Given the description of an element on the screen output the (x, y) to click on. 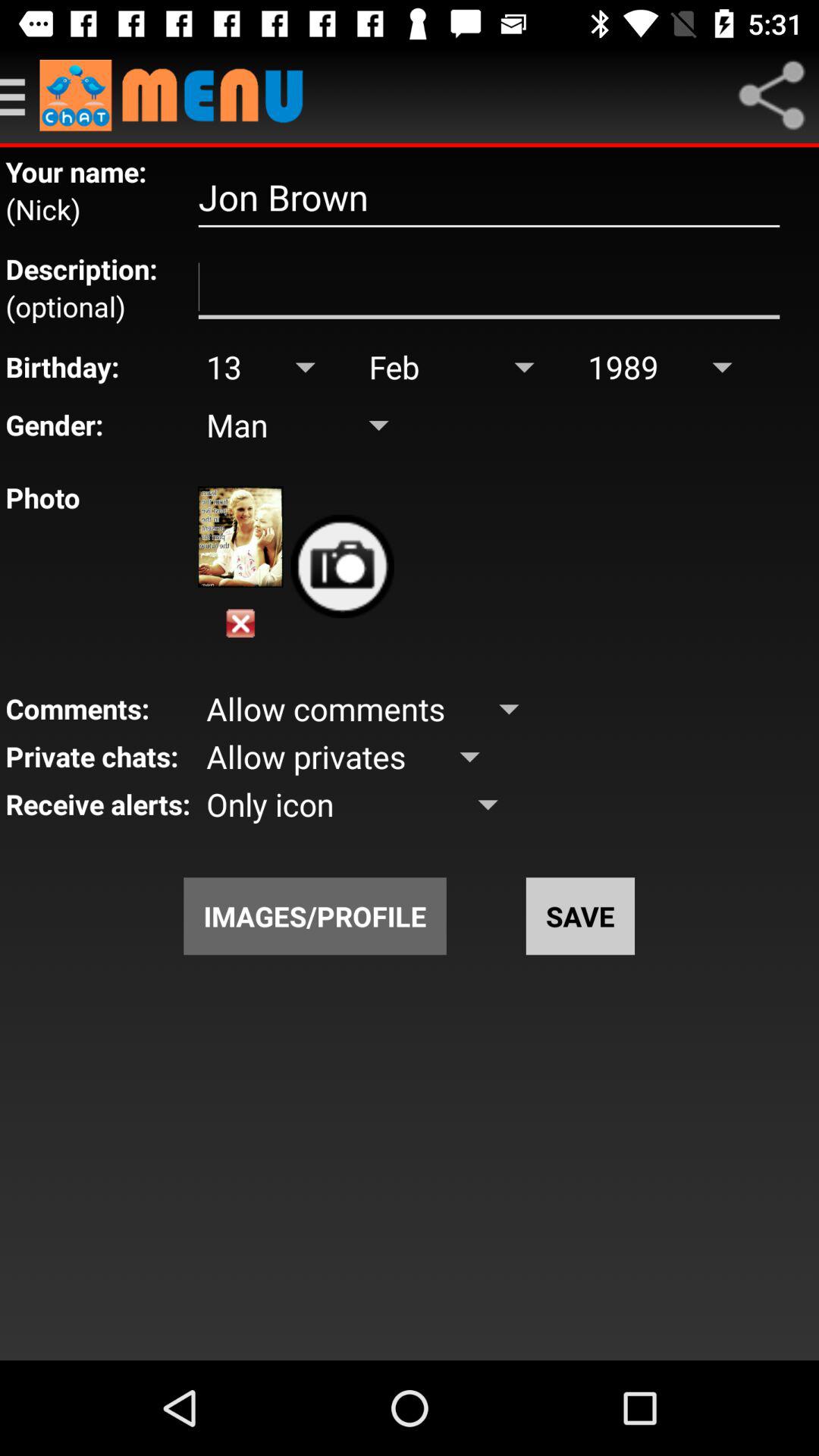
close page (240, 623)
